Given the description of an element on the screen output the (x, y) to click on. 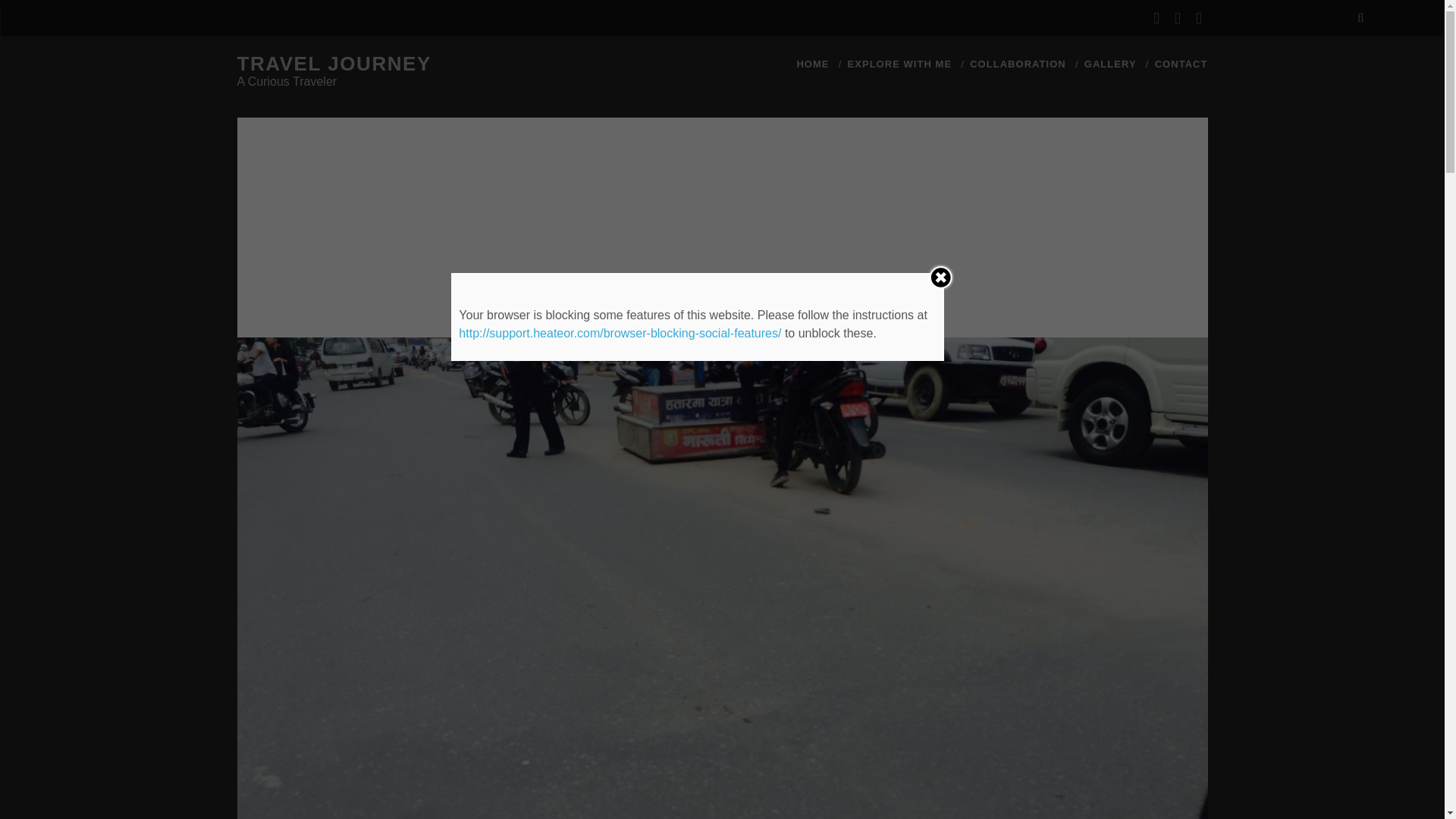
HOME (812, 64)
COLLABORATION (1017, 64)
GALLERY (1110, 64)
EXPLORE WITH ME (899, 64)
TRAVEL JOURNEY (332, 63)
CONTACT (1181, 64)
